Given the description of an element on the screen output the (x, y) to click on. 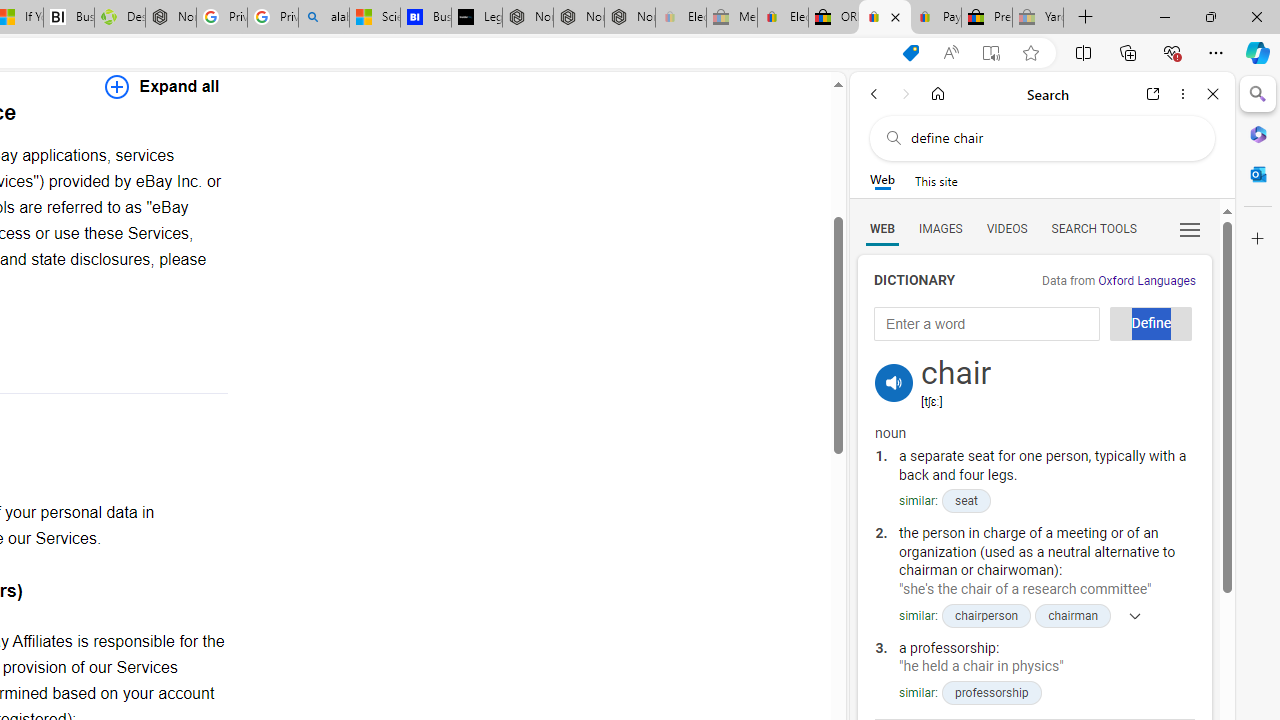
Expand all (162, 86)
